Given the description of an element on the screen output the (x, y) to click on. 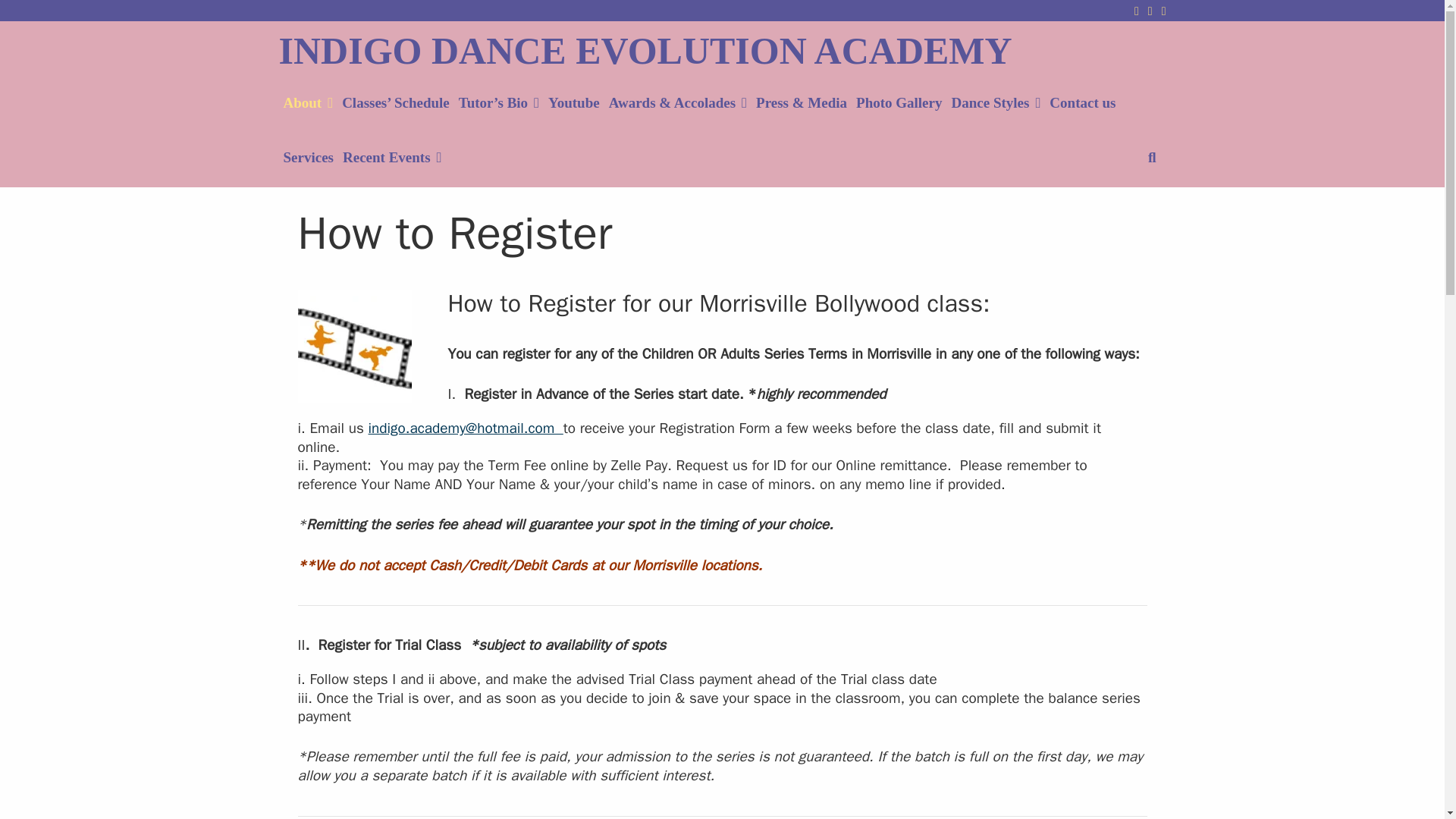
Search (443, 54)
Dance Styles (995, 103)
About (308, 103)
Search (1152, 157)
Photo Gallery (898, 103)
Services (308, 157)
Youtube (573, 103)
INDIGO DANCE EVOLUTION ACADEMY (645, 50)
Recent Events (391, 157)
Search (1152, 157)
Contact us (1082, 103)
